Given the description of an element on the screen output the (x, y) to click on. 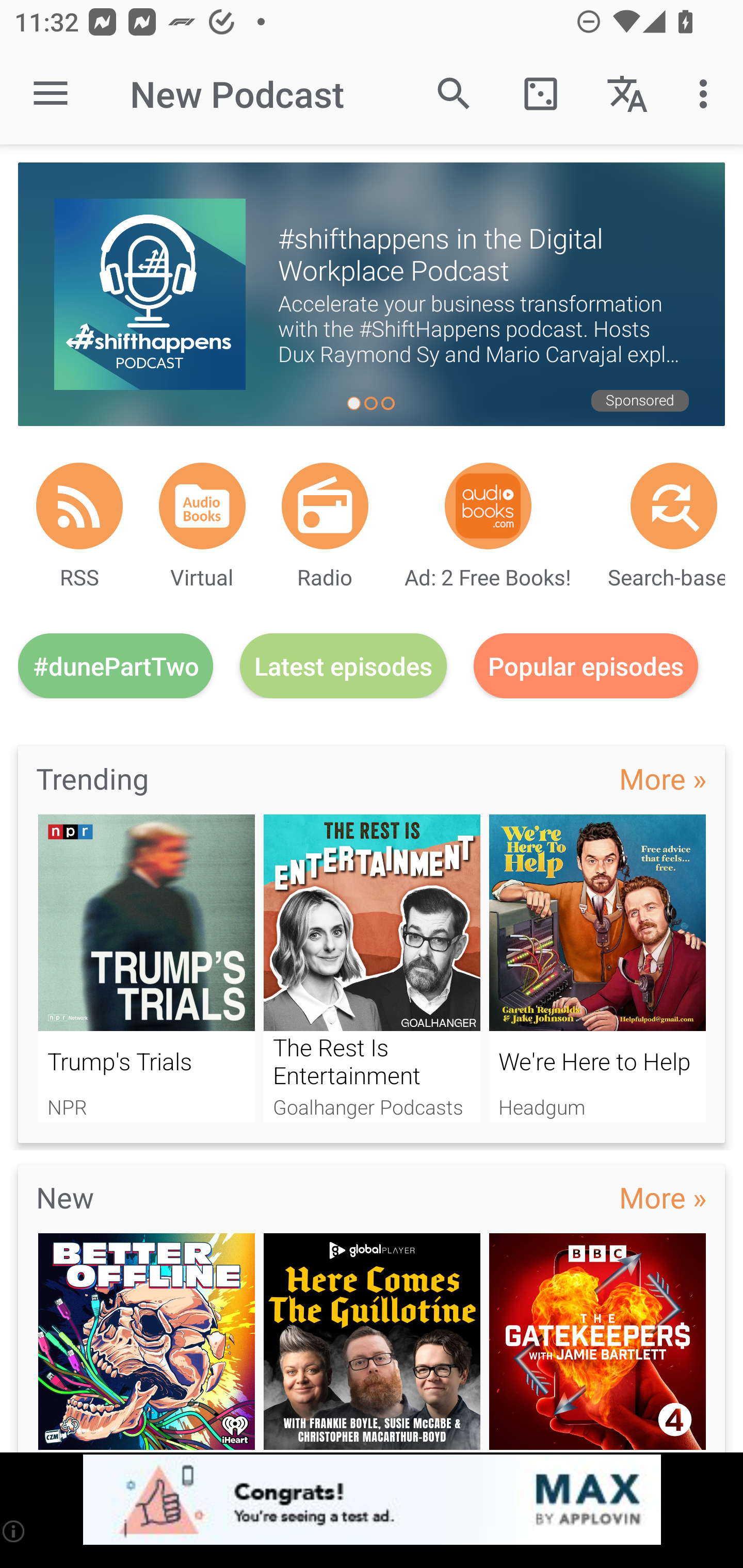
Open navigation sidebar (50, 93)
Search (453, 93)
Random pick (540, 93)
Podcast languages (626, 93)
More options (706, 93)
RSS (79, 505)
Virtual (202, 505)
Radio (324, 505)
Search-based (673, 505)
#dunePartTwo (115, 665)
Latest episodes (342, 665)
Popular episodes (586, 665)
More » (662, 778)
Trump's Trials NPR (145, 967)
The Rest Is Entertainment Goalhanger Podcasts (371, 967)
We're Here to Help Headgum (596, 967)
More » (662, 1196)
Better Offline (145, 1342)
Here Comes The Guillotine (371, 1342)
The Gatekeepers (596, 1342)
app-monetization (371, 1500)
(i) (14, 1531)
